Given the description of an element on the screen output the (x, y) to click on. 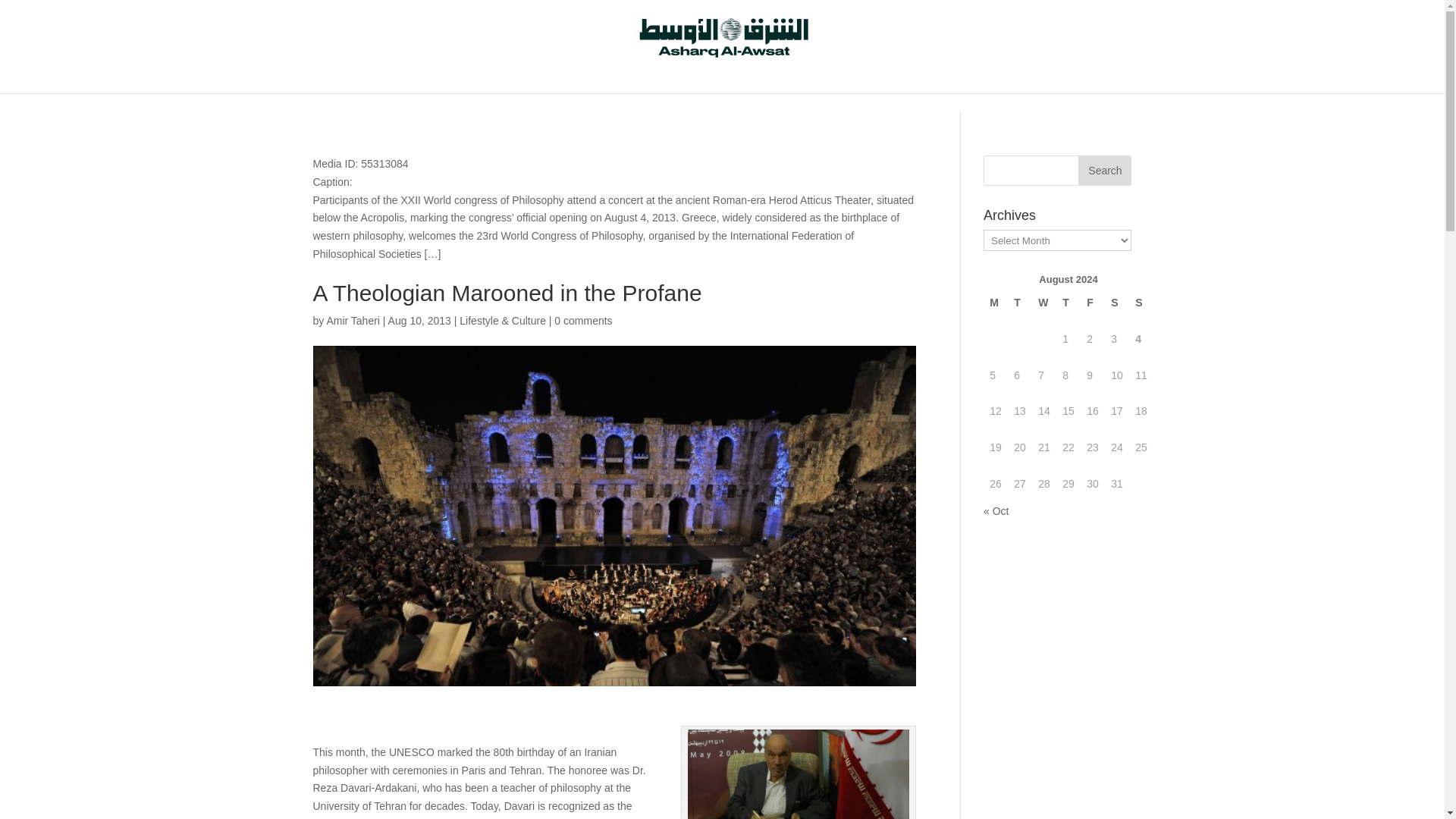
Posts by Amir Taheri (353, 320)
0 comments (582, 320)
Search (1104, 170)
Amir Taheri (353, 320)
Search (1104, 170)
